Given the description of an element on the screen output the (x, y) to click on. 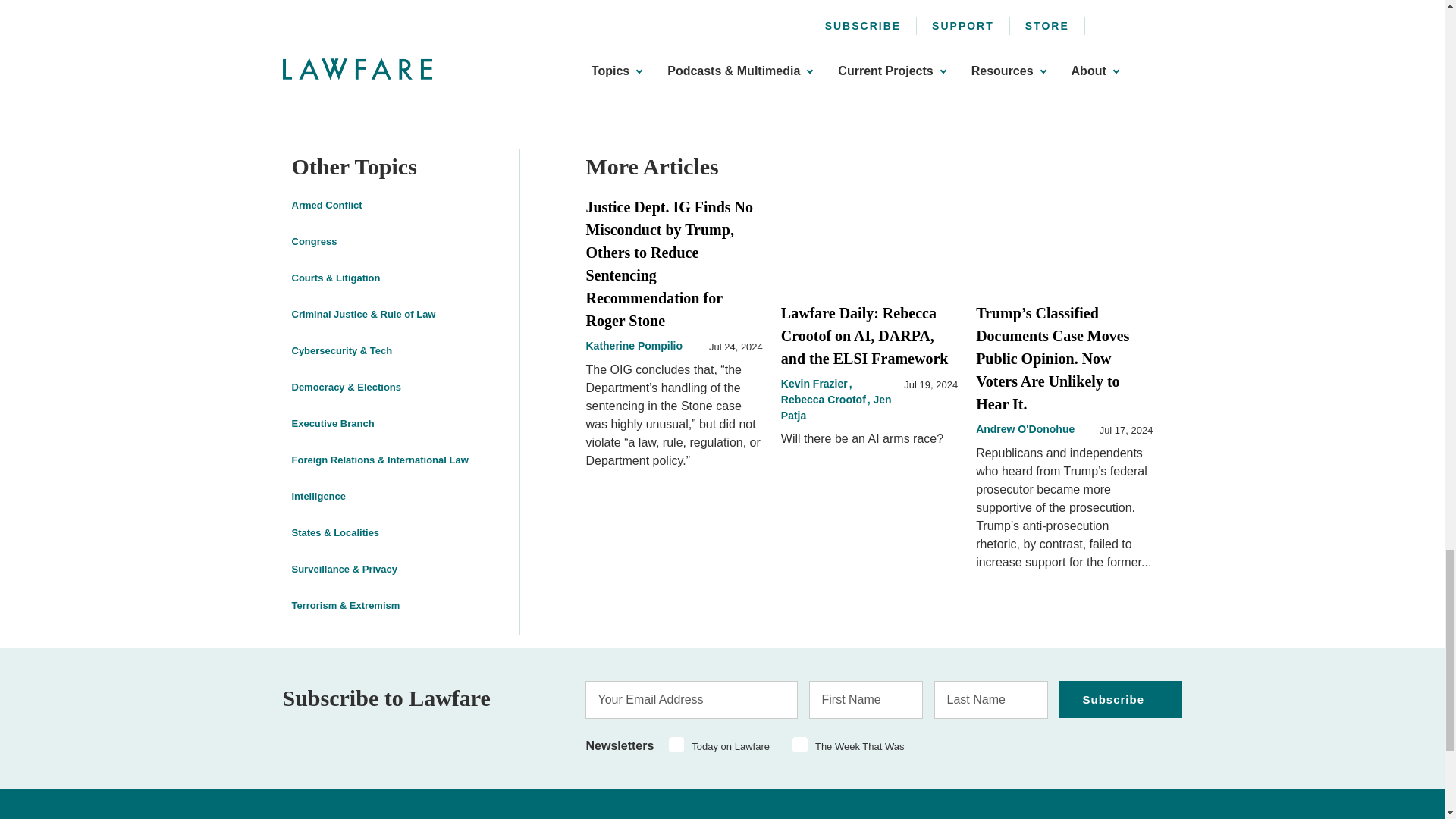
4 (800, 744)
1 (676, 744)
